Given the description of an element on the screen output the (x, y) to click on. 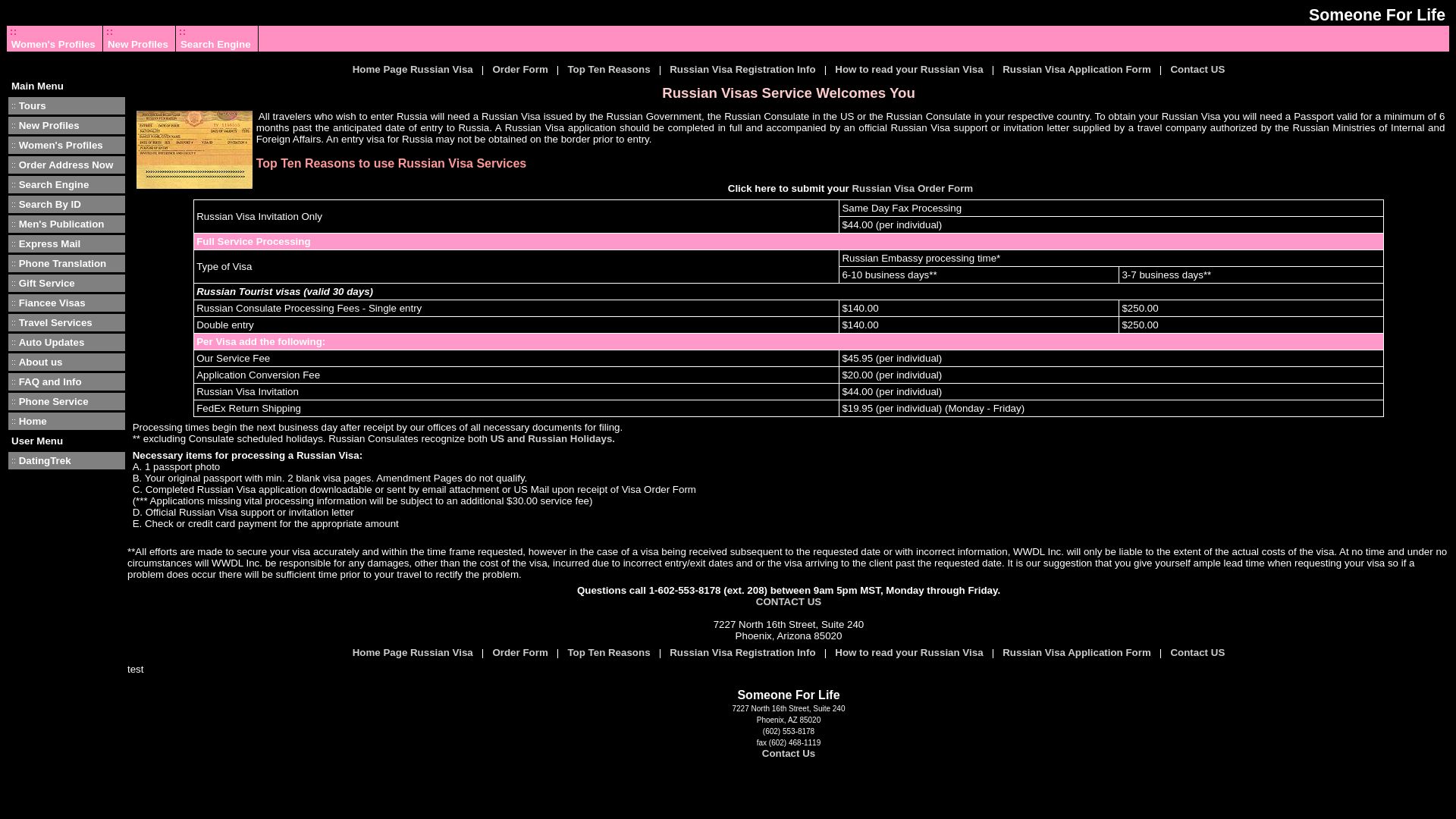
Russian Visa Registration Info (742, 69)
Search By ID (49, 204)
Phone Translation (62, 263)
Russian Visa Application Form (1077, 69)
Fiancee Visas (51, 302)
Order Form (519, 69)
New Profiles (49, 125)
Women's Profiles (53, 43)
Top Ten Reasons (608, 652)
Express Mail (49, 243)
Order Address Now (65, 164)
Search Engine (53, 184)
Home Page Russian Visa (412, 69)
How to read your Russian Visa (908, 69)
New Profiles (137, 43)
